Given the description of an element on the screen output the (x, y) to click on. 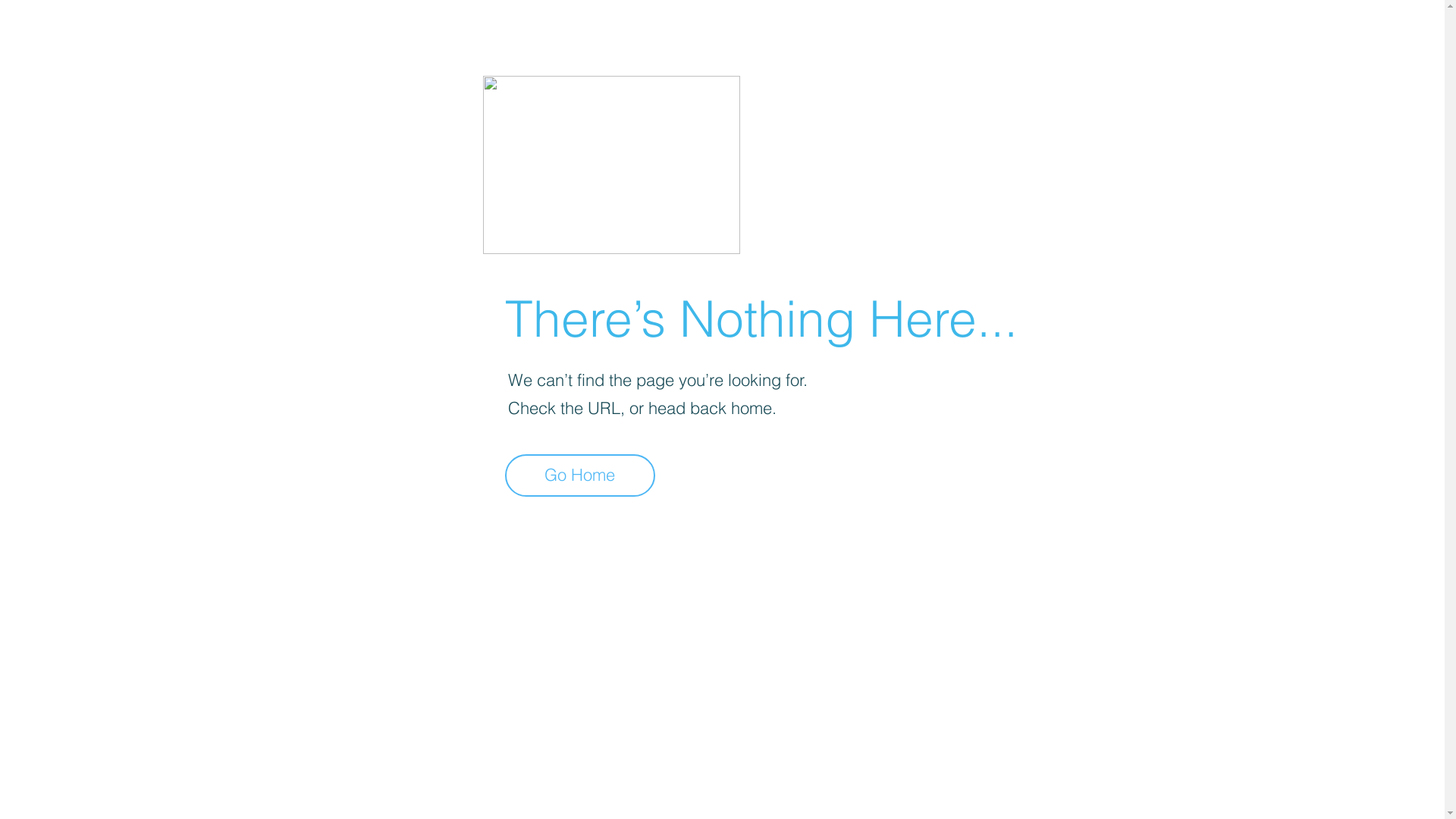
Go Home Element type: text (580, 475)
404-icon_2.png Element type: hover (610, 164)
